Given the description of an element on the screen output the (x, y) to click on. 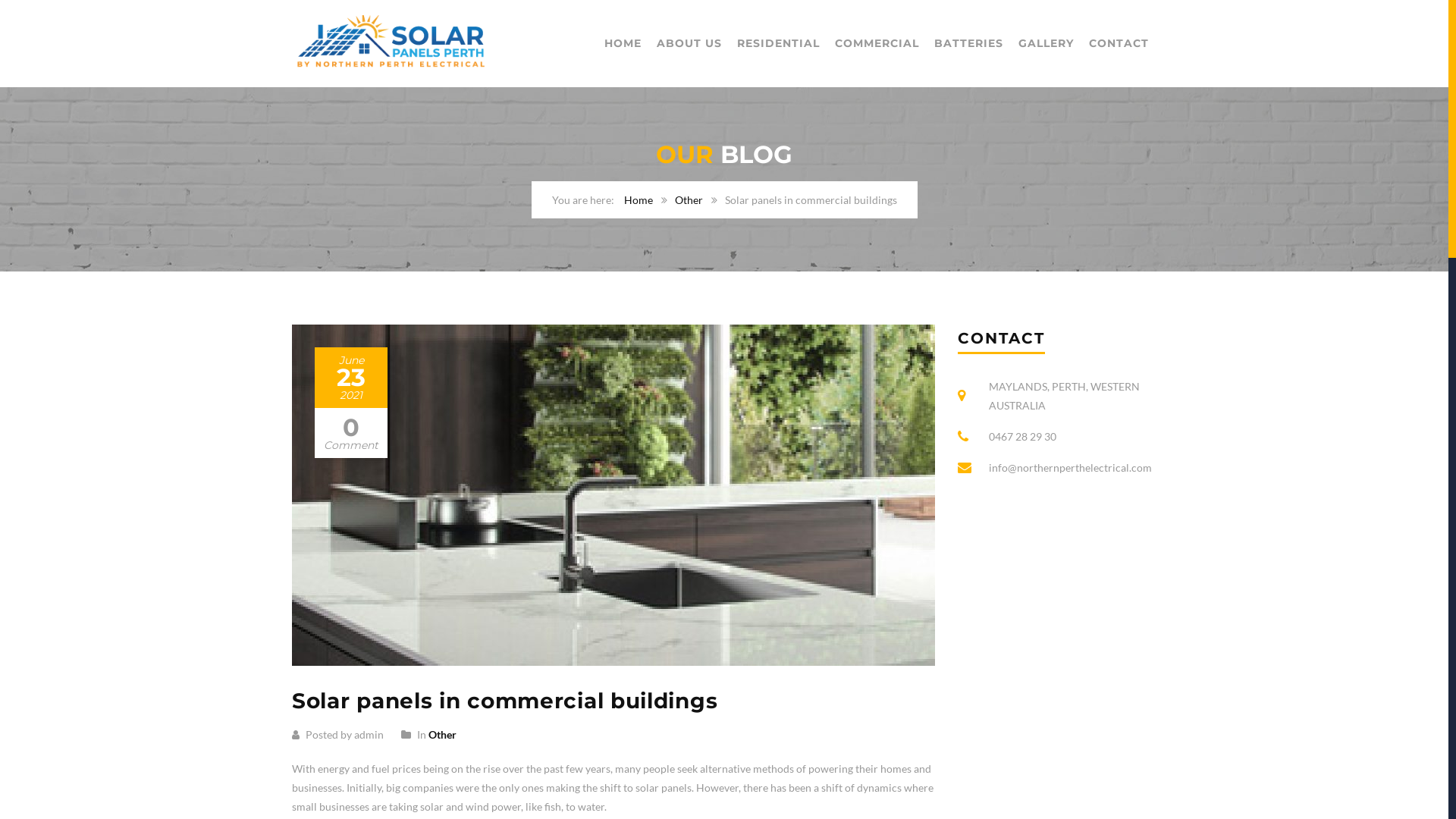
CONTACT Element type: text (1118, 43)
BATTERIES Element type: text (968, 43)
Other Element type: text (442, 734)
ABOUT US Element type: text (688, 43)
GALLERY Element type: text (1045, 43)
HOME Element type: text (622, 43)
COMMERCIAL Element type: text (876, 43)
RESIDENTIAL Element type: text (778, 43)
Home Element type: text (637, 199)
Other Element type: text (688, 199)
